Given the description of an element on the screen output the (x, y) to click on. 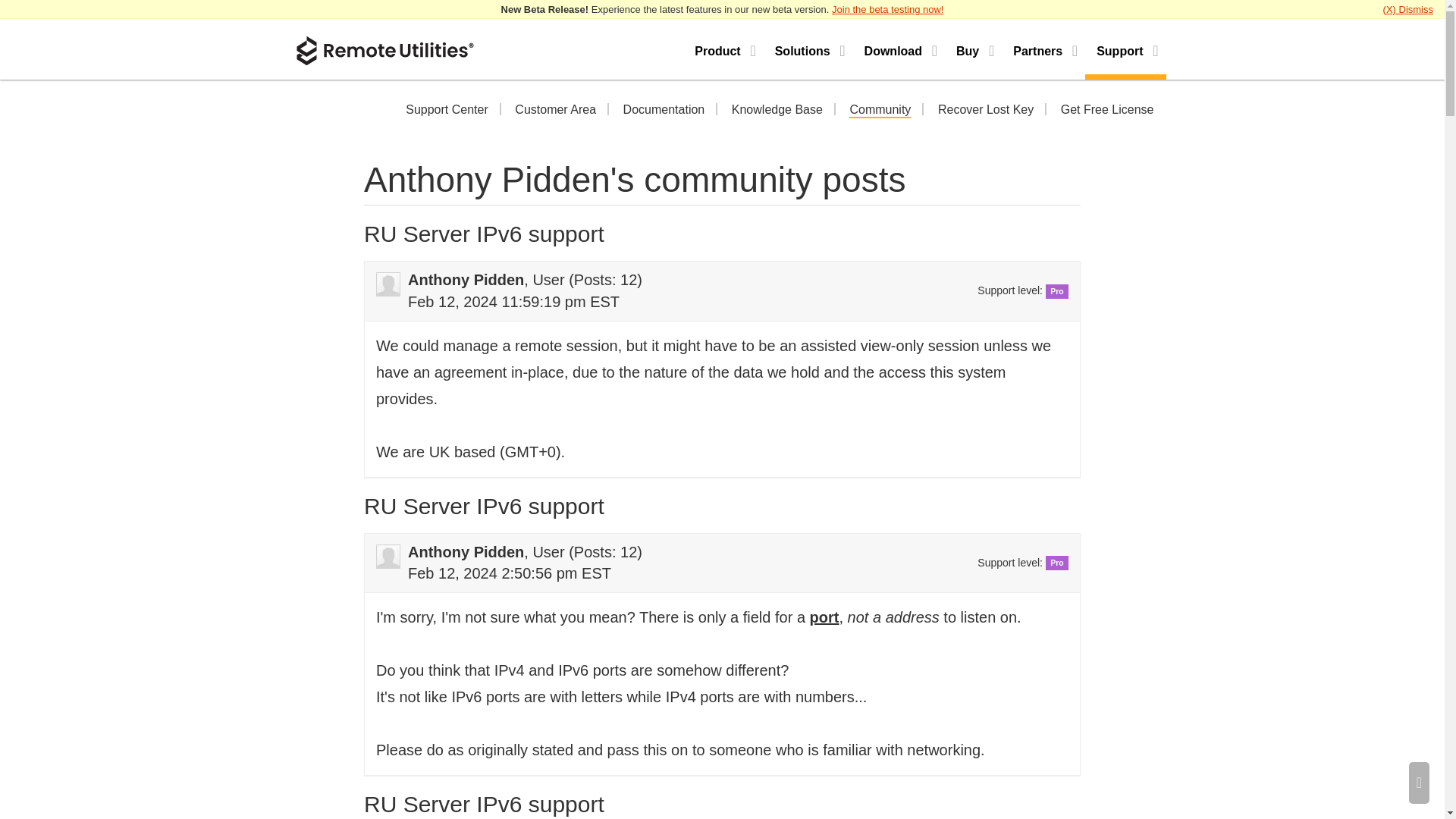
Partners (1042, 48)
Buy (972, 48)
Solutions (807, 48)
Download (898, 48)
Support (1125, 48)
Support Center (446, 110)
Product (722, 48)
Join the beta testing now! (887, 9)
